Given the description of an element on the screen output the (x, y) to click on. 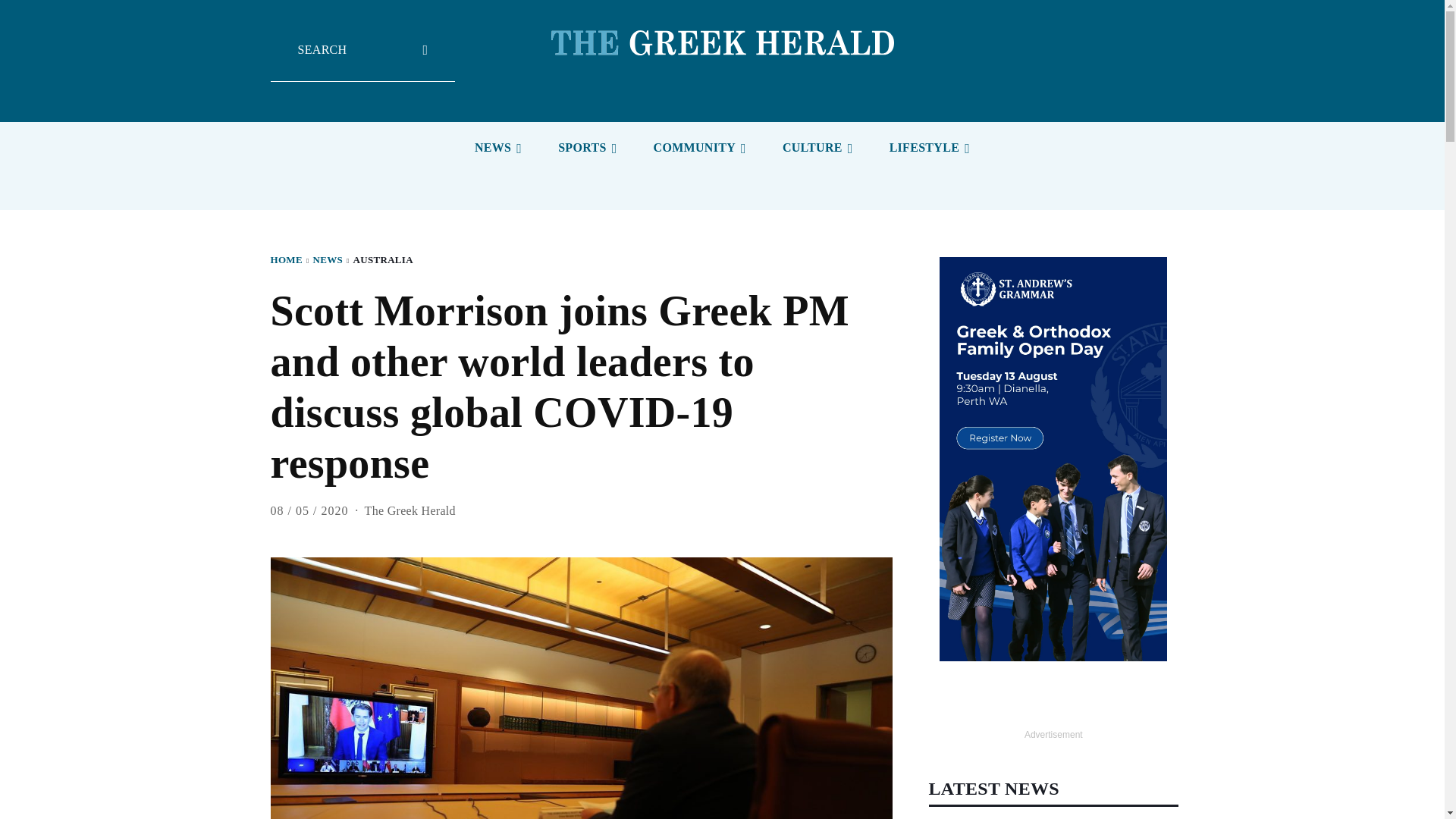
Search (361, 60)
